Given the description of an element on the screen output the (x, y) to click on. 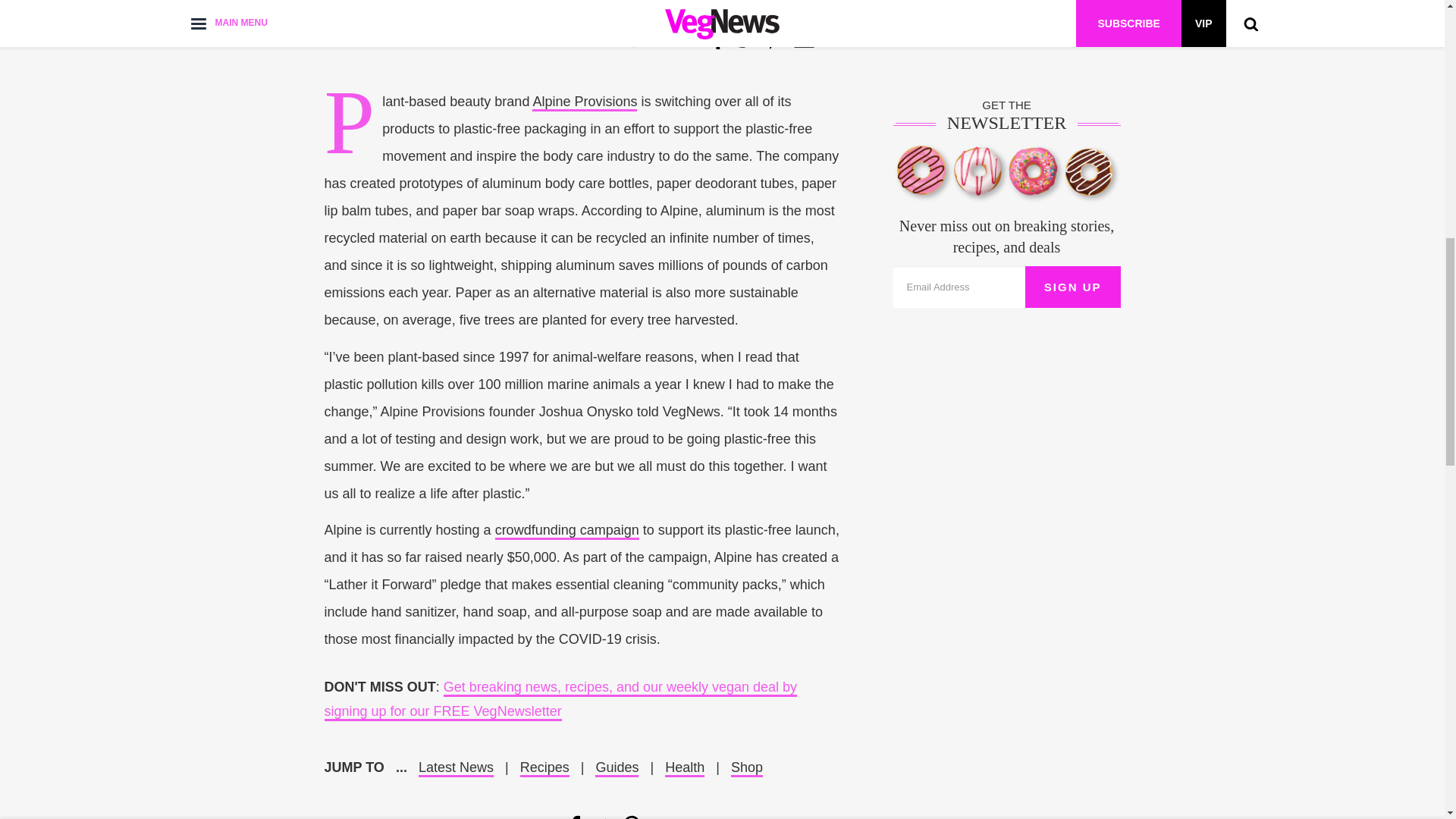
Share article on Pinterest (631, 816)
Share article via email (661, 816)
Share article via email (804, 38)
Sign Up (1073, 286)
Advertisement (721, 36)
Share article on Twitter (745, 38)
Share article on Twitter (601, 816)
Share article on Facebook (574, 816)
